Given the description of an element on the screen output the (x, y) to click on. 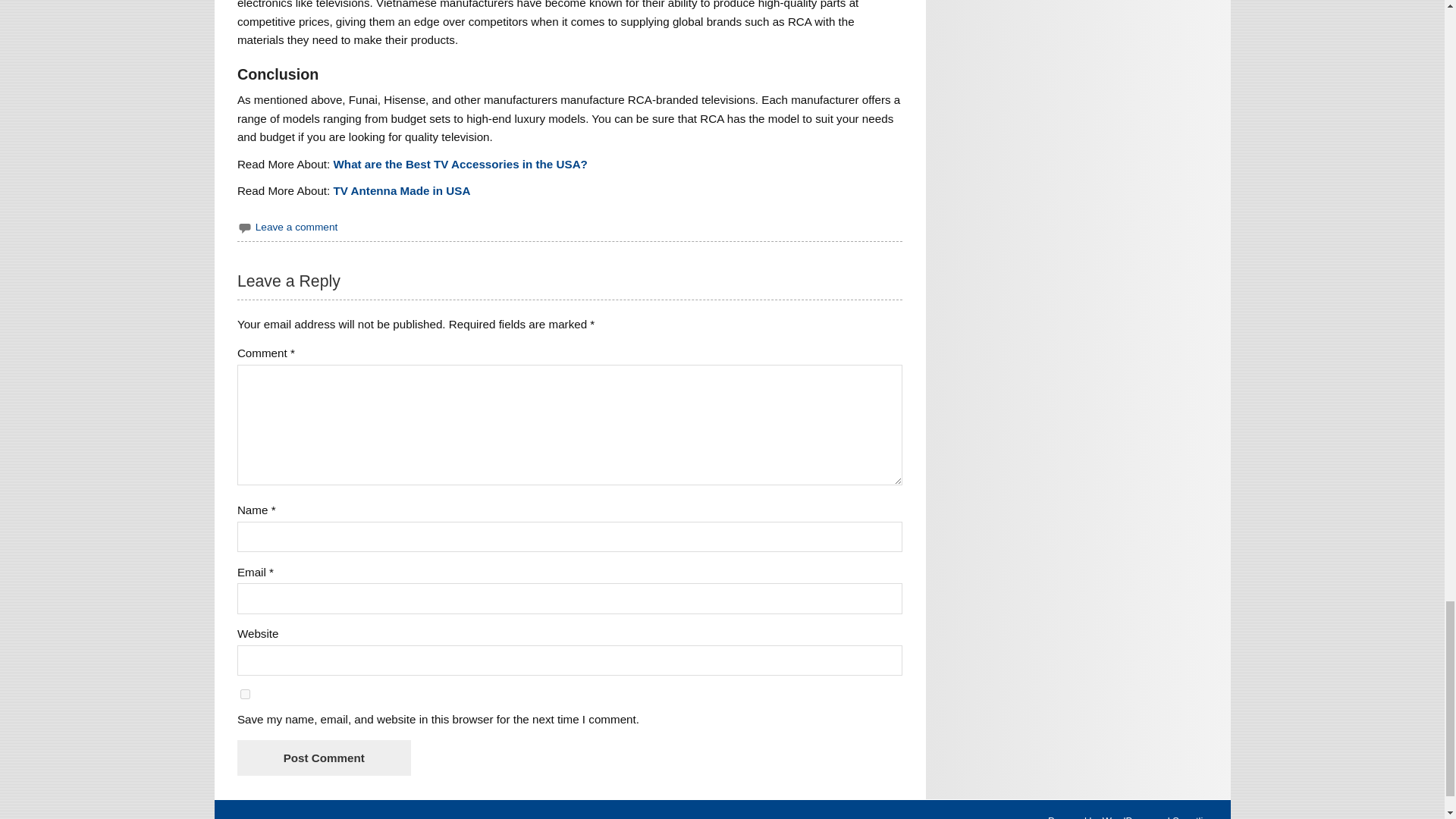
What are the Best TV Accessories in the USA? (460, 164)
TV Antenna Made in USA (401, 190)
Post Comment (323, 757)
yes (245, 694)
Leave a comment (296, 226)
Post Comment (323, 757)
